Given the description of an element on the screen output the (x, y) to click on. 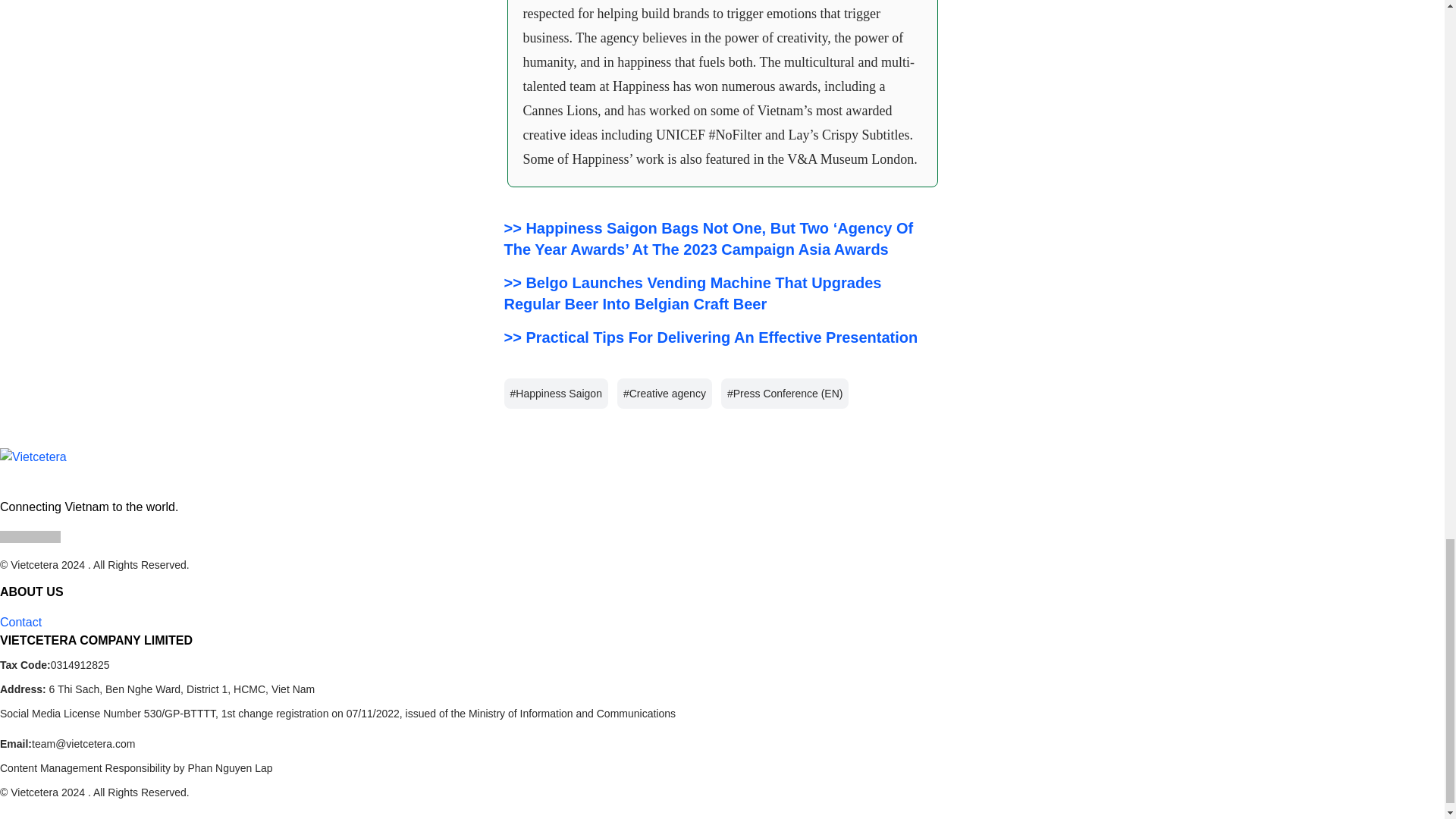
Practical Tips For Delivering An Effective Presentation (710, 336)
Creative agency (664, 392)
Youtube (42, 536)
Contact (21, 621)
Instagram (17, 536)
Happiness Saigon (555, 392)
Facebook (5, 536)
RSS (54, 536)
LinkedIn (30, 536)
